Given the description of an element on the screen output the (x, y) to click on. 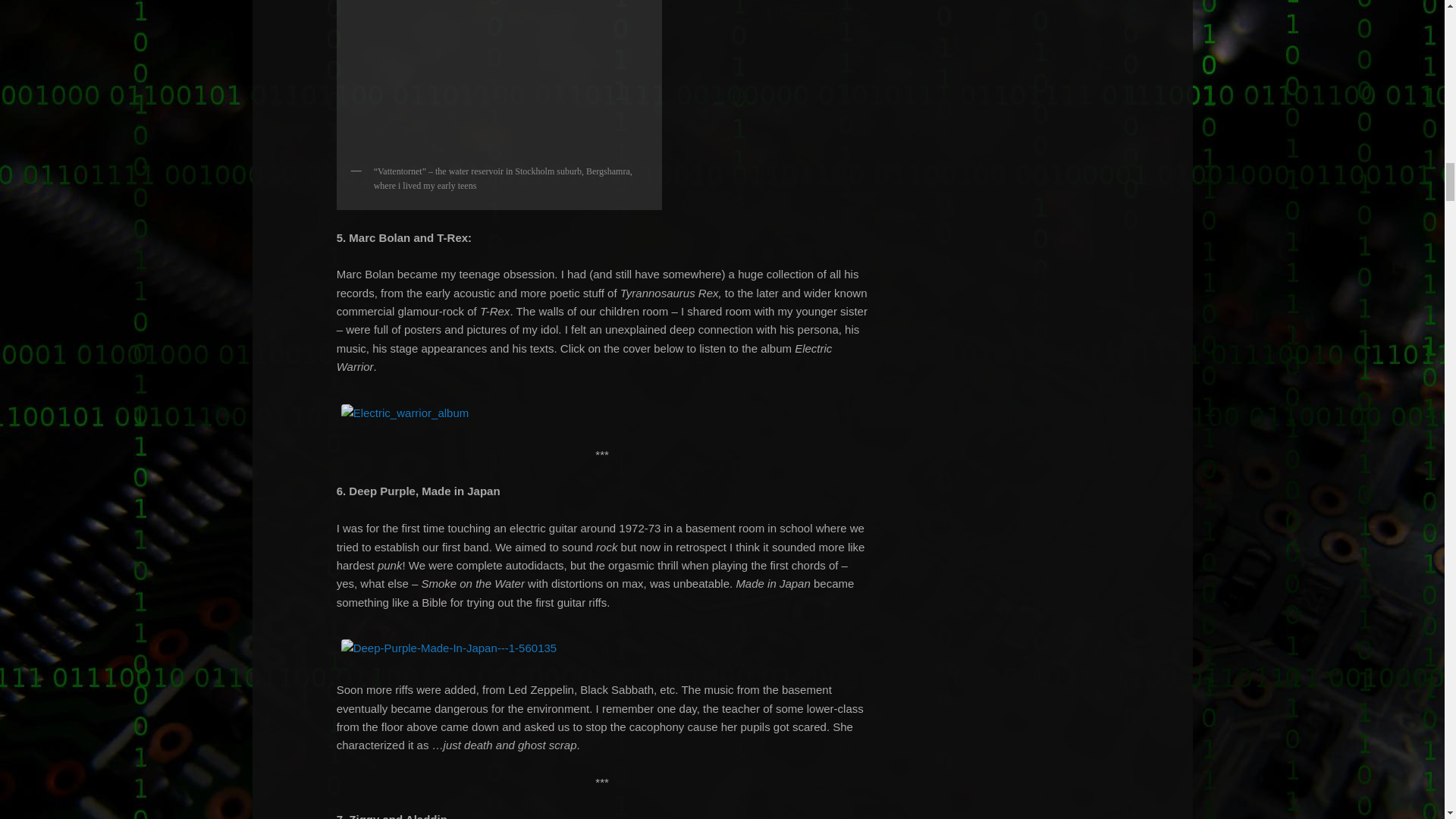
vattentornet bha (498, 78)
t-rex (405, 412)
